Given the description of an element on the screen output the (x, y) to click on. 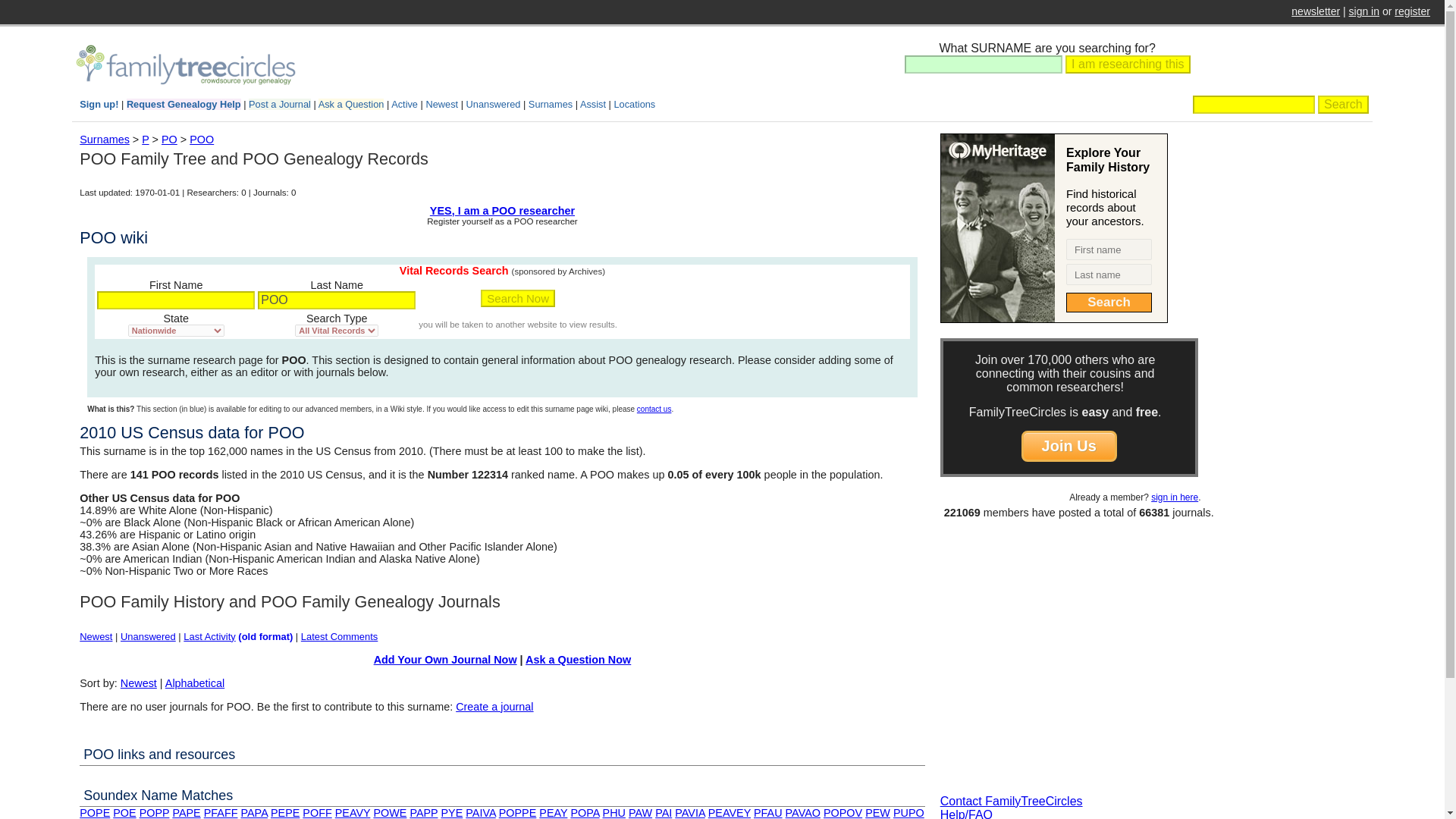
Add Your Own Journal Now (445, 659)
Newest (138, 683)
YES, I am a POO researcher (502, 210)
Ask a Question (351, 103)
Newest (441, 103)
Newest (96, 636)
Search Now (517, 298)
sign in (1363, 10)
PAPA (253, 812)
Post a Journal (279, 103)
